Given the description of an element on the screen output the (x, y) to click on. 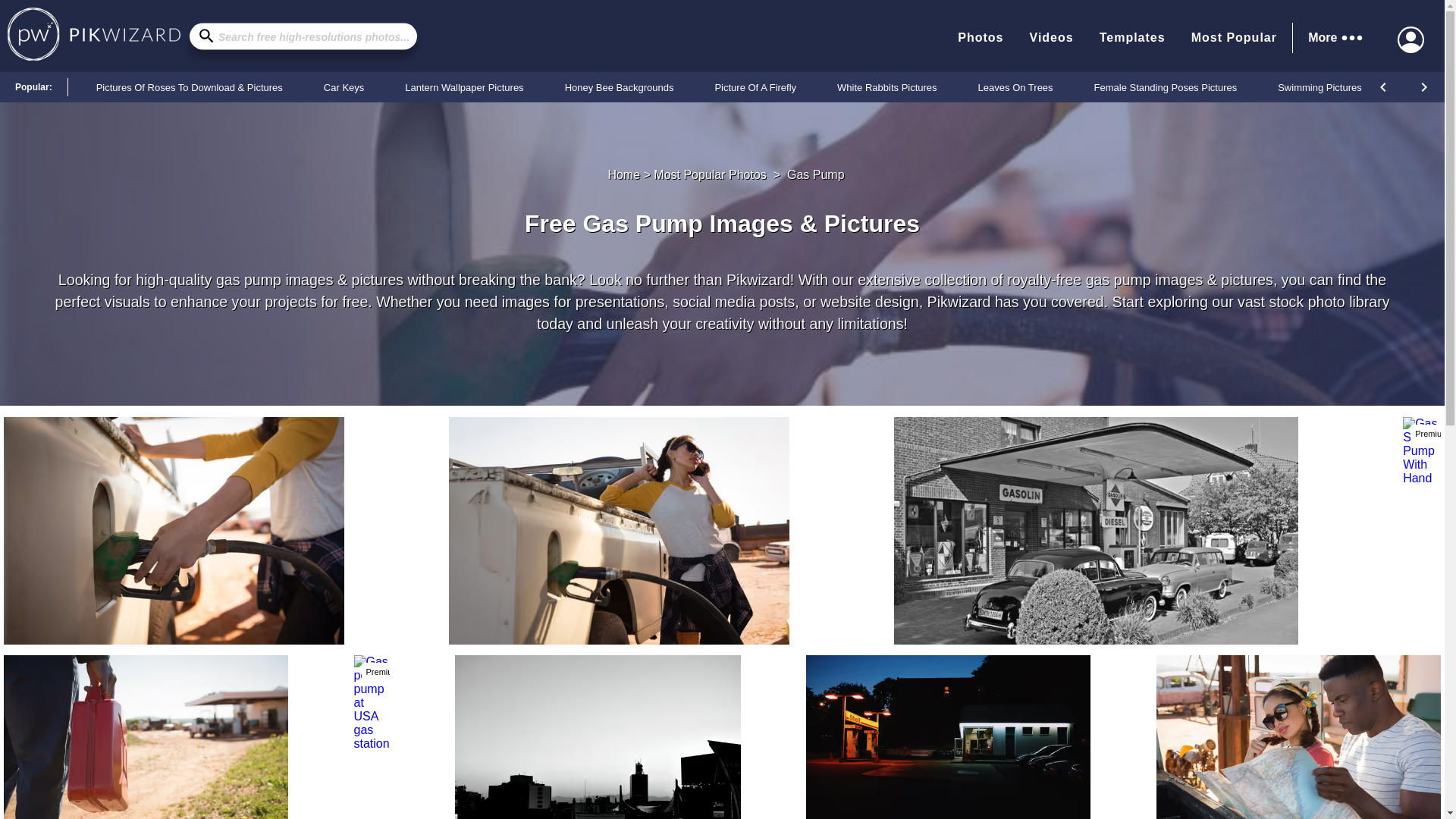
Photos (980, 37)
Templates (1132, 37)
Female Standing Poses Pictures (1165, 86)
White Rabbits Pictures (887, 86)
Lantern Wallpaper Pictures (463, 86)
Car Keys (343, 86)
Honey Bee Backgrounds (619, 86)
Swimming Pictures (1319, 86)
Picture Of A Firefly (755, 86)
Leaves On Trees (1015, 86)
